Given the description of an element on the screen output the (x, y) to click on. 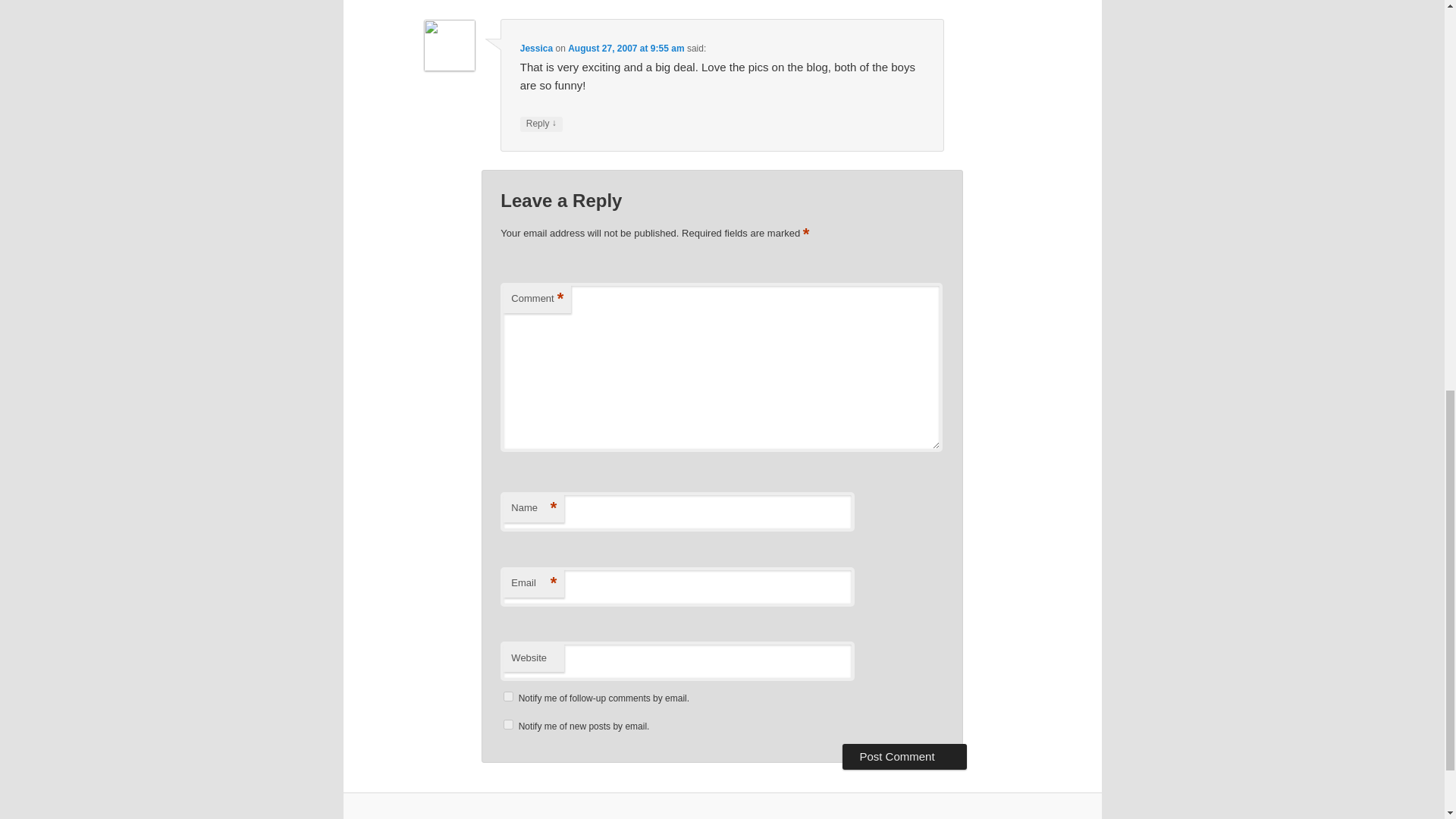
August 27, 2007 at 9:55 am (625, 48)
subscribe (508, 696)
Post Comment (904, 756)
Jessica (536, 48)
Post Comment (904, 756)
subscribe (508, 724)
